Given the description of an element on the screen output the (x, y) to click on. 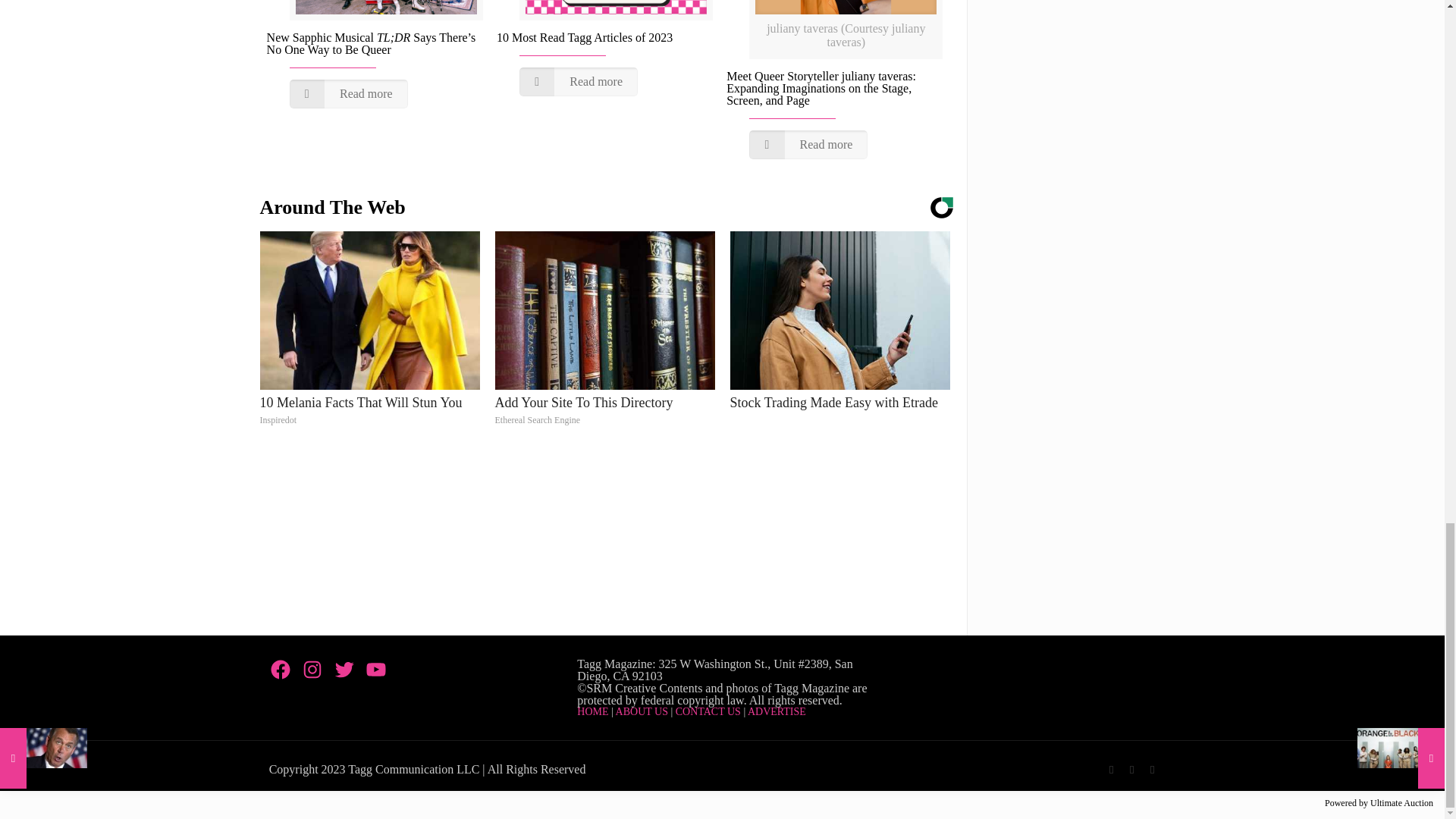
Facebook (1111, 769)
Twitter (1132, 769)
YouTube (1152, 769)
